Given the description of an element on the screen output the (x, y) to click on. 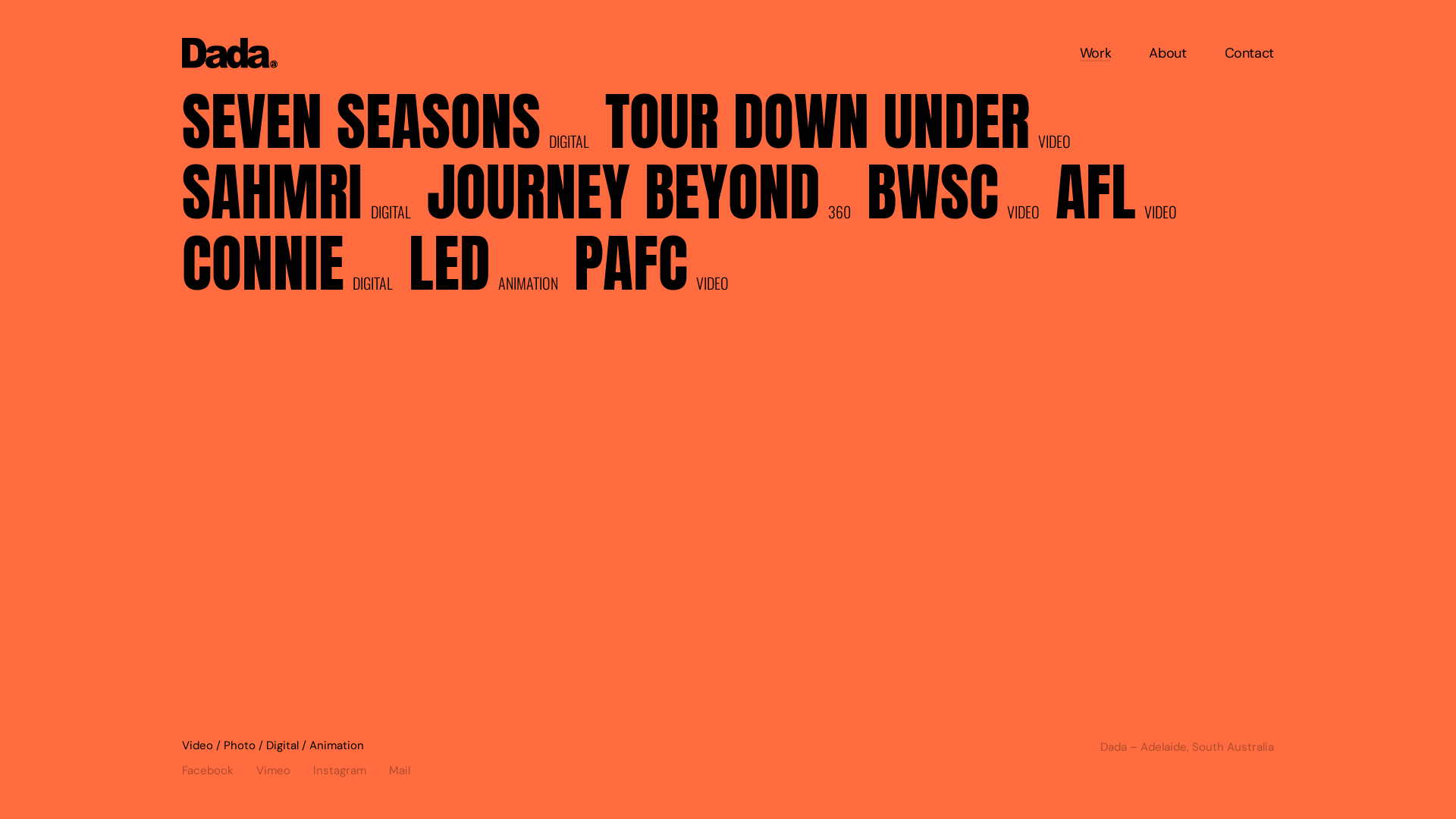
Work Element type: text (1095, 52)
SEVEN SEASONS DIGITAL Element type: text (393, 126)
Vimeo Element type: text (284, 767)
JOURNEY BEYOND 360 Element type: text (646, 197)
SAHMRI DIGITAL Element type: text (304, 197)
Mail Element type: text (399, 767)
CONNIE DIGITAL Element type: text (294, 268)
Instagram Element type: text (351, 767)
PAFC VIDEO Element type: text (658, 268)
LED ANIMATION Element type: text (490, 268)
AFL VIDEO Element type: text (1123, 197)
Facebook Element type: text (219, 767)
Contact Element type: text (1249, 52)
TOUR DOWN UNDER VIDEO Element type: text (845, 126)
BWSC VIDEO Element type: text (960, 197)
About Element type: text (1167, 52)
